Given the description of an element on the screen output the (x, y) to click on. 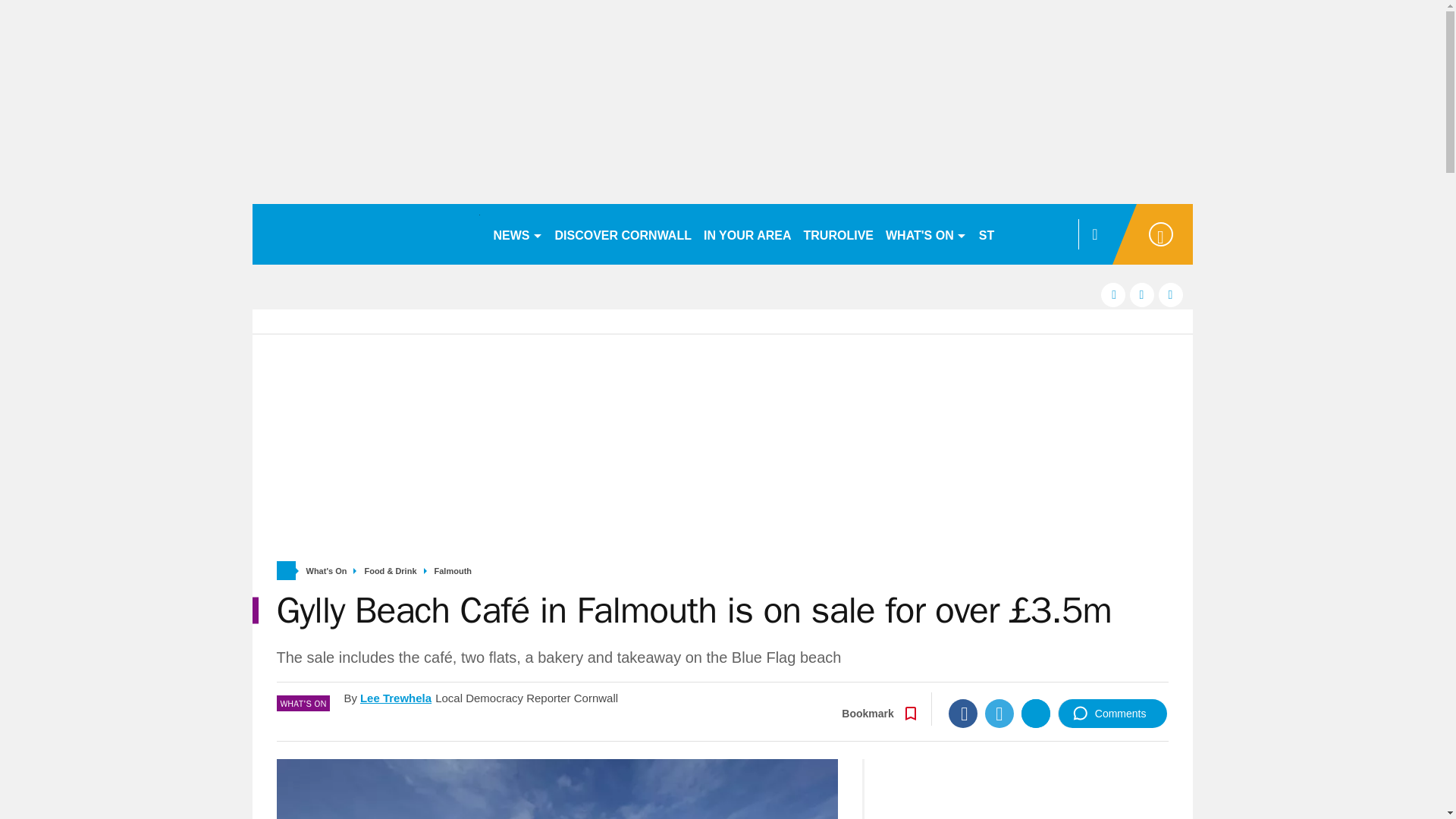
ST AUSTELL (1015, 233)
Comments (1112, 713)
Facebook (962, 713)
Twitter (999, 713)
IN YOUR AREA (747, 233)
DISCOVER CORNWALL (622, 233)
twitter (1141, 294)
instagram (1170, 294)
cornwalllive (365, 233)
WHAT'S ON (925, 233)
facebook (1112, 294)
TRUROLIVE (838, 233)
NEWS (517, 233)
